Given the description of an element on the screen output the (x, y) to click on. 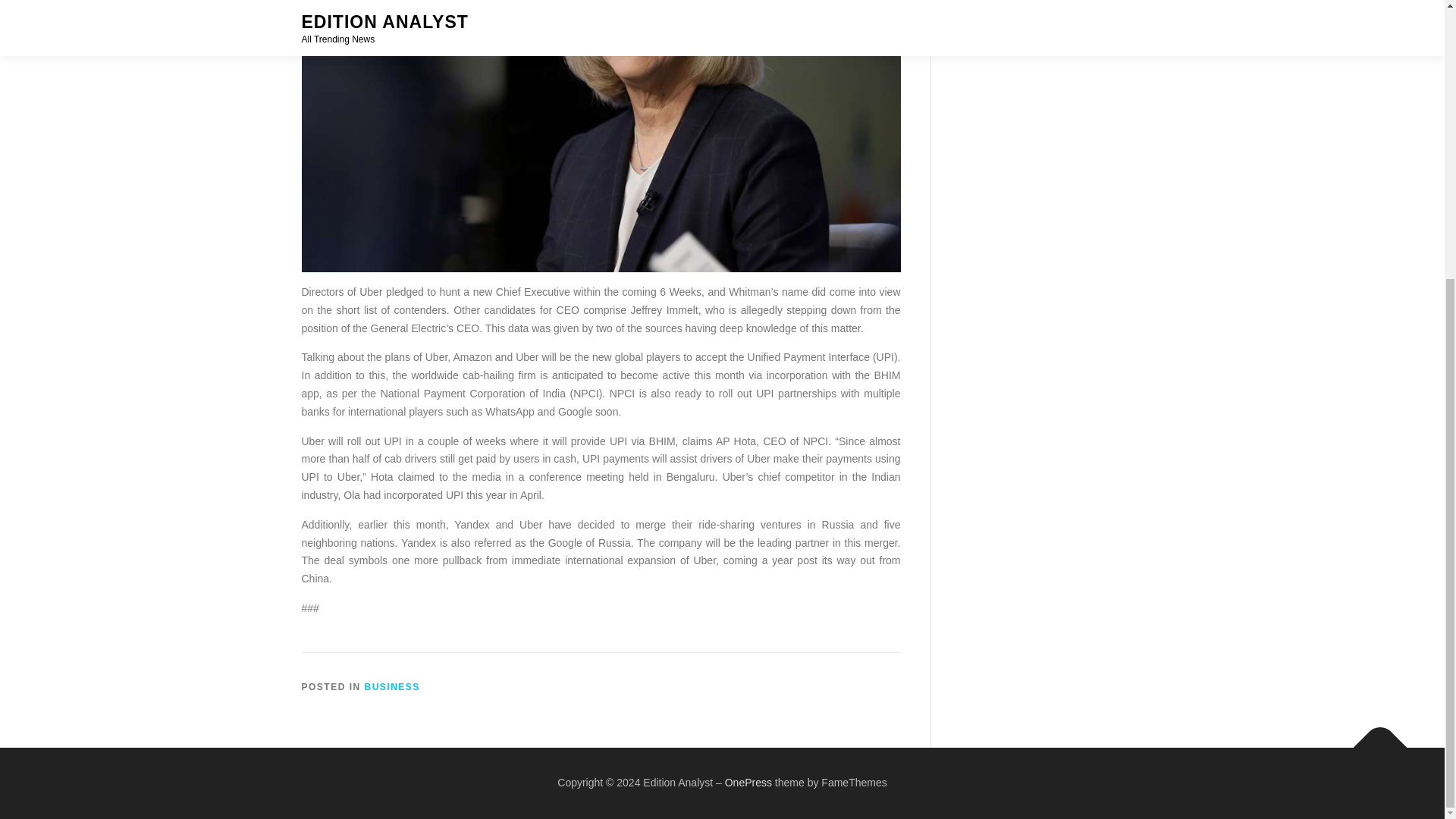
Back To Top (1372, 740)
BUSINESS (392, 686)
OnePress (748, 782)
